Given the description of an element on the screen output the (x, y) to click on. 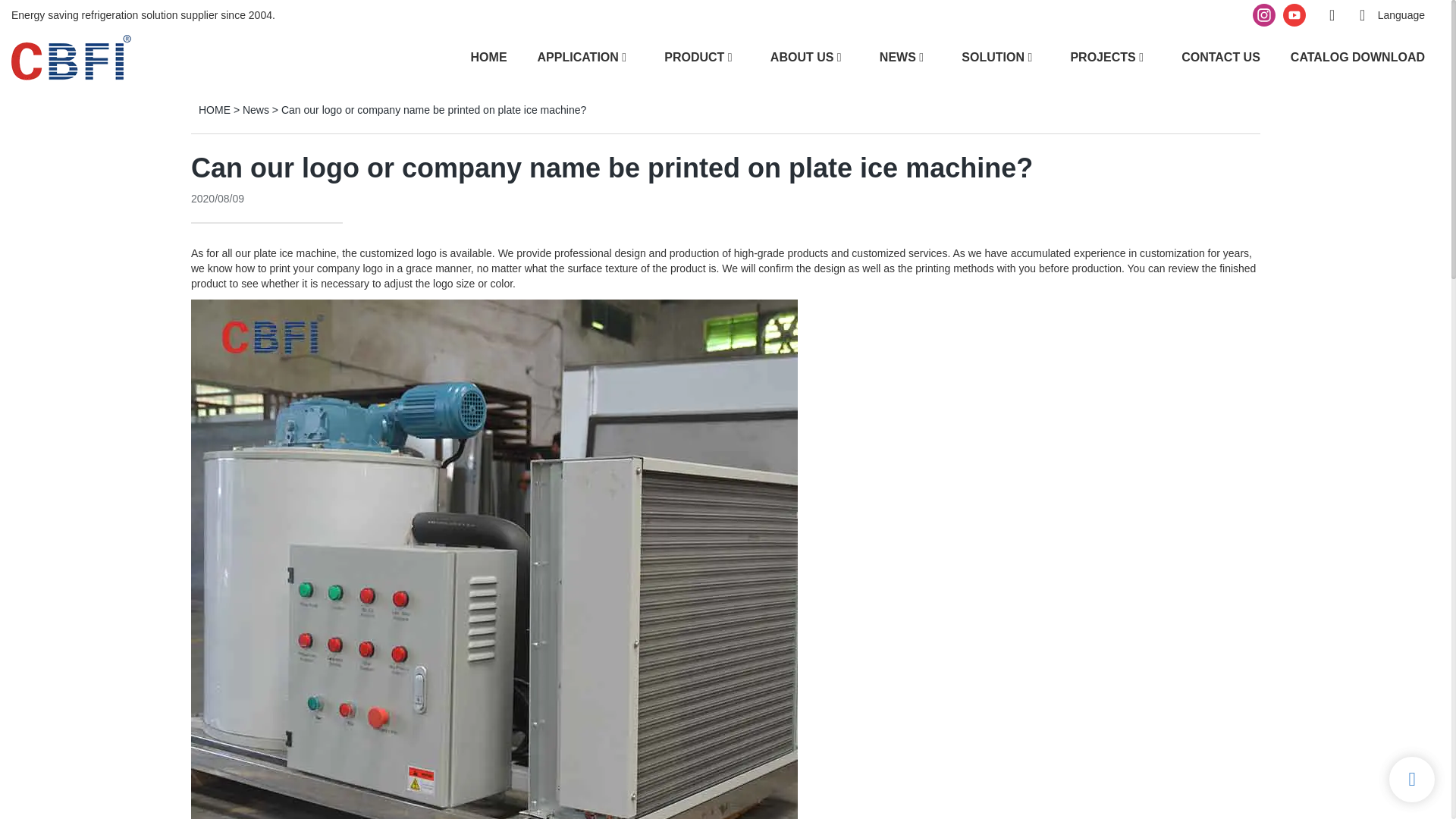
APPLICATION (577, 56)
PRODUCT (693, 56)
instagram (1264, 15)
HOME (488, 56)
youtube (1293, 15)
